Given the description of an element on the screen output the (x, y) to click on. 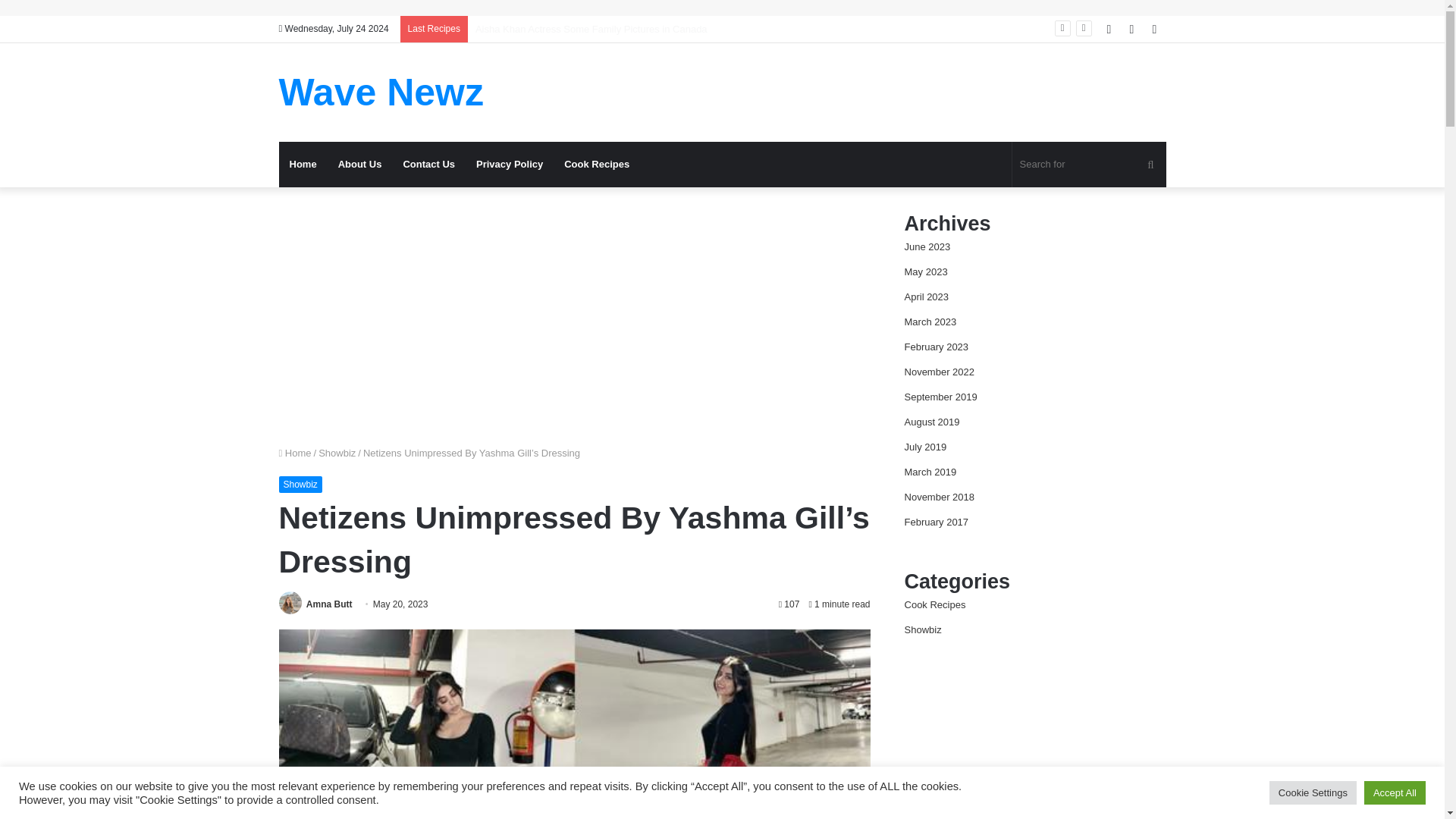
Wave Newz (381, 92)
Cook Recipes (596, 164)
About Us (360, 164)
Advertisement (574, 315)
Amna Butt (328, 603)
Aisha Khan Actress Some Family Pictures in Canada (591, 29)
Wave Newz (381, 92)
Amna Butt (328, 603)
Showbiz (300, 484)
Privacy Policy (509, 164)
Contact Us (428, 164)
Home (303, 164)
Search for (1088, 164)
Home (295, 452)
Showbiz (336, 452)
